Given the description of an element on the screen output the (x, y) to click on. 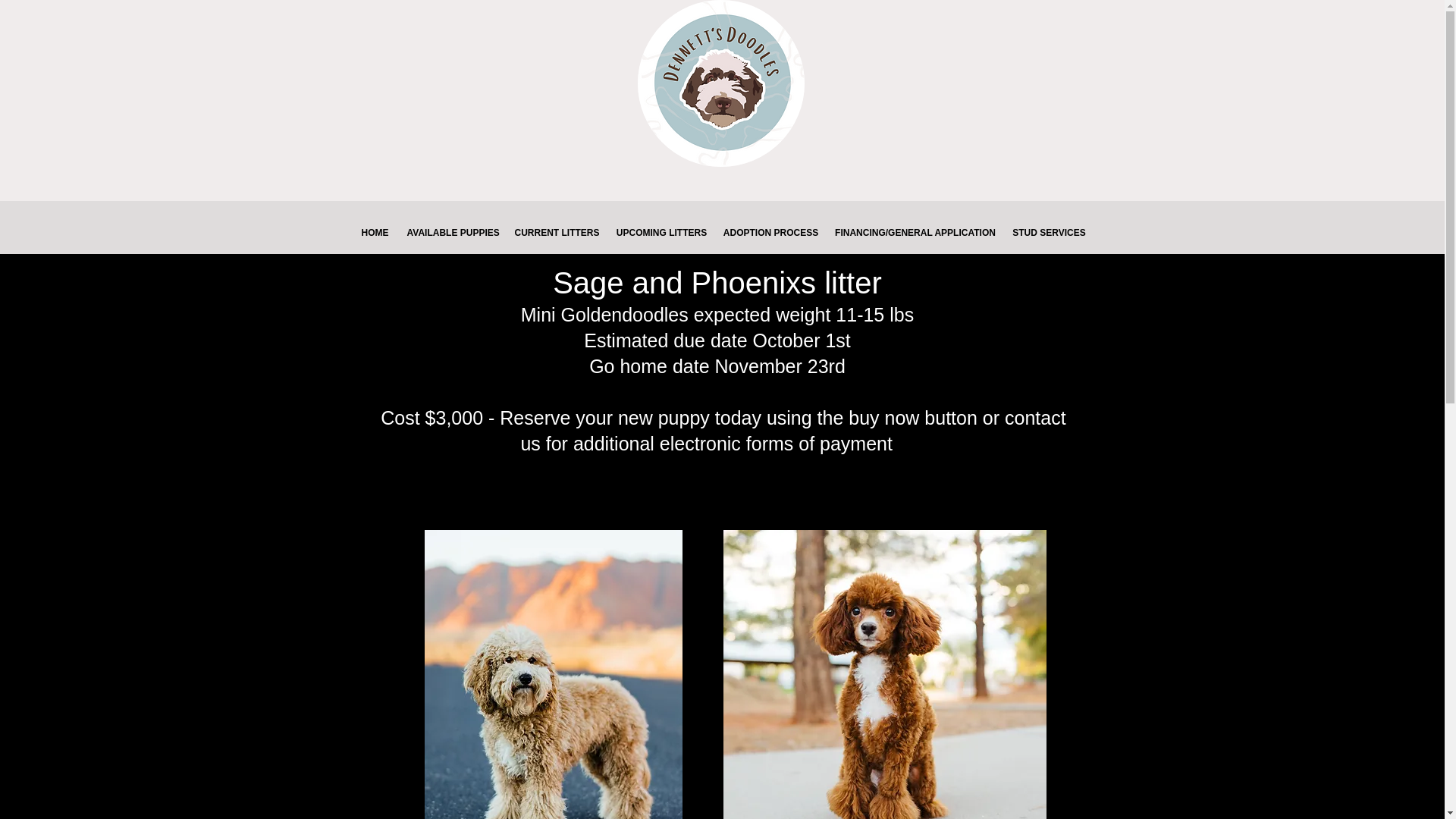
UPCOMING LITTERS (662, 233)
HOME (374, 233)
STUD SERVICES (1048, 233)
ADOPTION PROCESS (771, 233)
CURRENT LITTERS (557, 233)
AVAILABLE PUPPIES (451, 233)
